Given the description of an element on the screen output the (x, y) to click on. 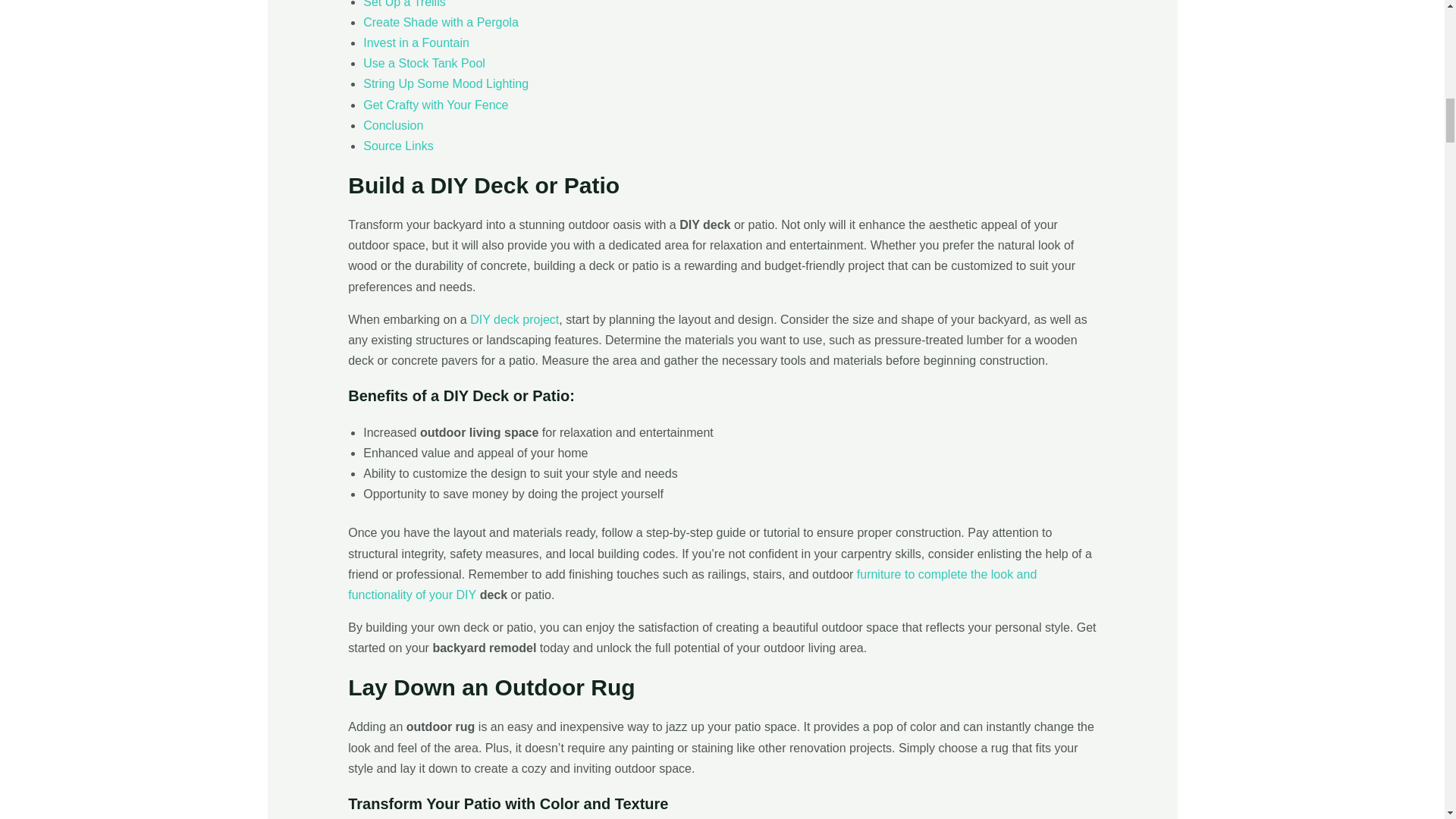
Set Up a Trellis (403, 4)
Invest in a Fountain (415, 42)
Source Links (397, 145)
Use a Stock Tank Pool (423, 62)
furniture to complete the look and functionality of your DIY (691, 584)
String Up Some Mood Lighting (445, 83)
Conclusion (392, 124)
Create Shade with a Pergola (440, 21)
Get Crafty with Your Fence (435, 104)
DIY deck project (514, 318)
